Given the description of an element on the screen output the (x, y) to click on. 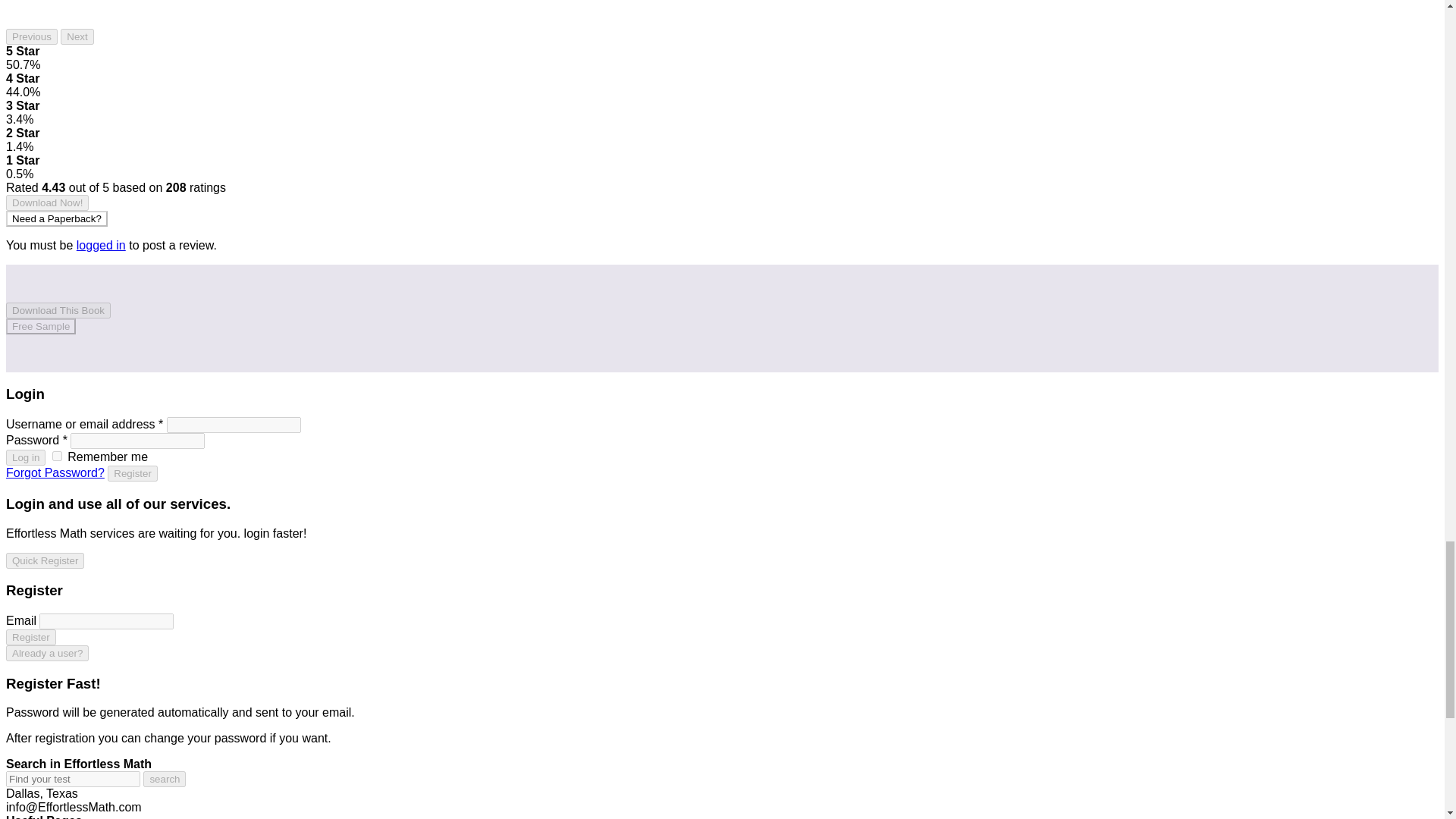
search (164, 779)
Register (30, 637)
forever (57, 456)
